Given the description of an element on the screen output the (x, y) to click on. 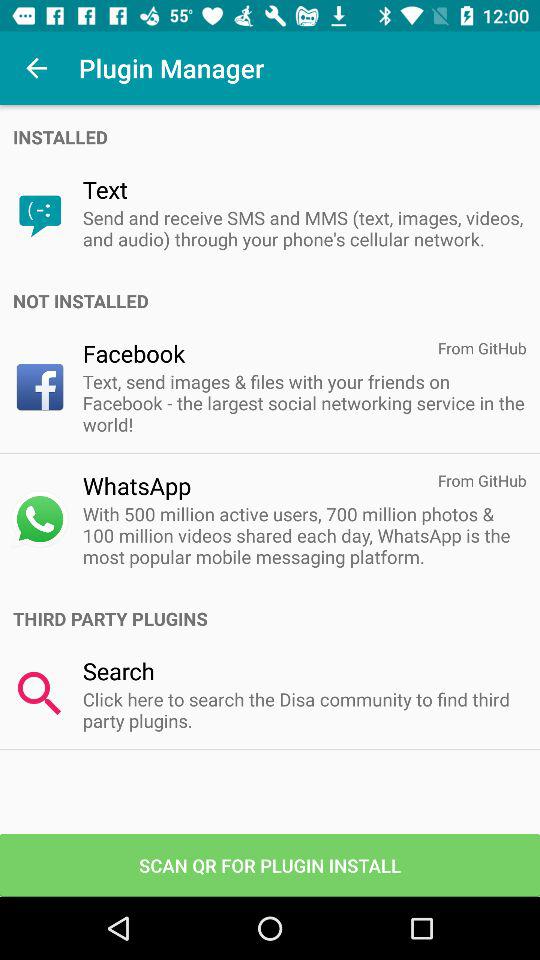
turn off icon below the whatsapp icon (304, 535)
